Given the description of an element on the screen output the (x, y) to click on. 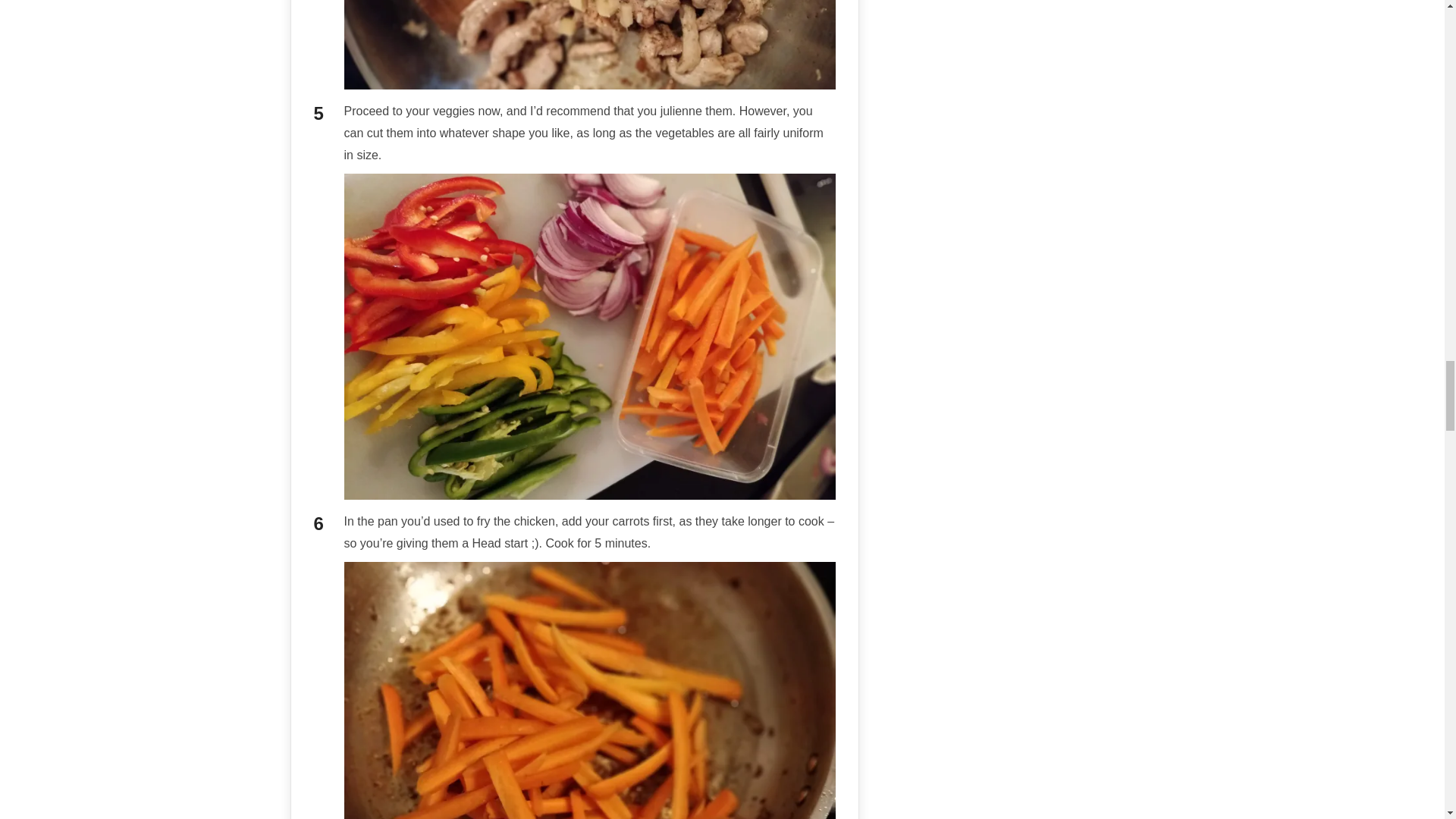
Chicken Stir Fry (589, 690)
Chicken Stir Fry (589, 44)
